Given the description of an element on the screen output the (x, y) to click on. 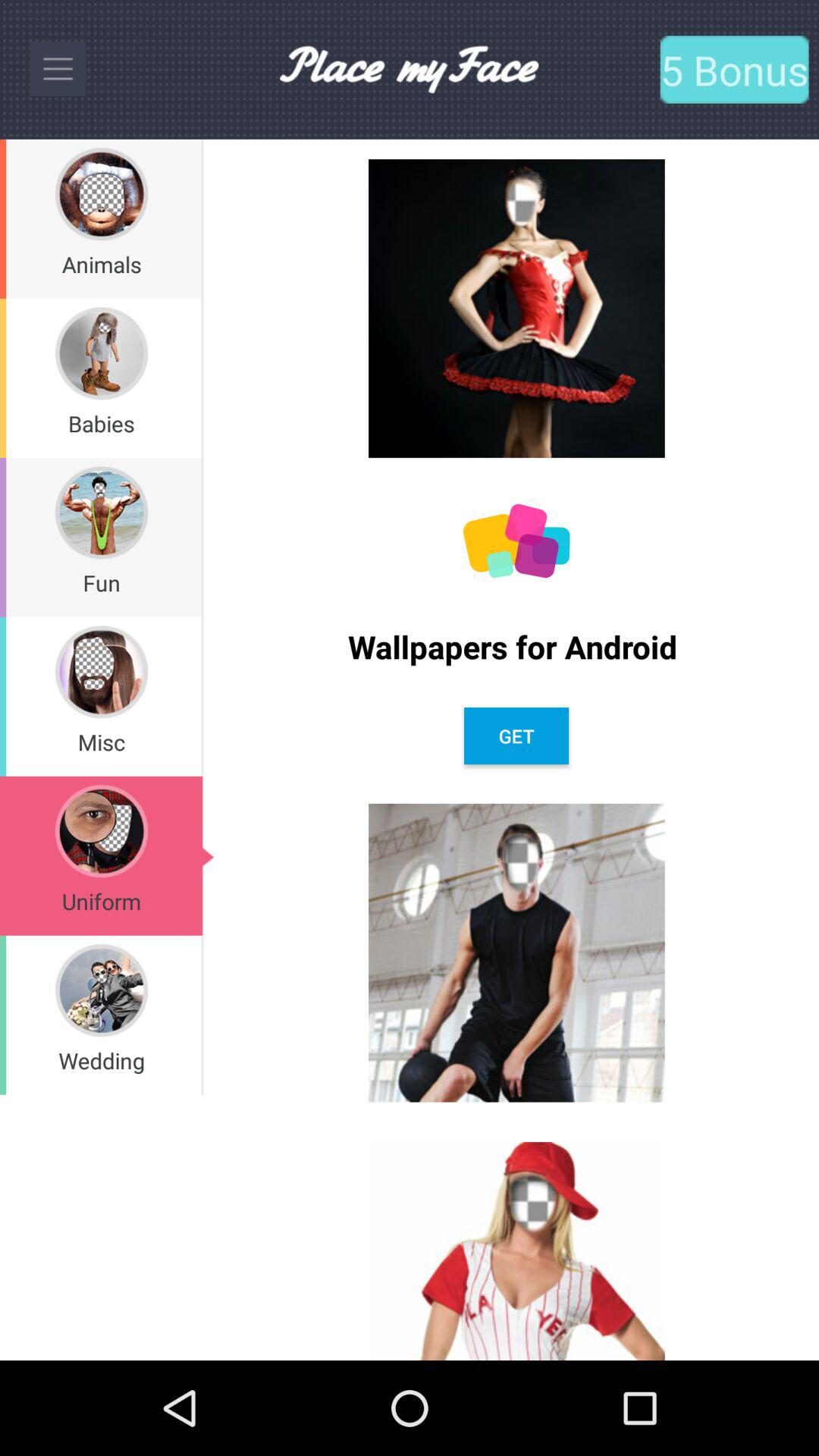
click on the home button at top left (57, 69)
select the text which is to the right of place my face (734, 68)
tag the logo mentioned at center top of the page (409, 68)
click on misc symbol (101, 671)
click on second image from bottom (516, 952)
